Given the description of an element on the screen output the (x, y) to click on. 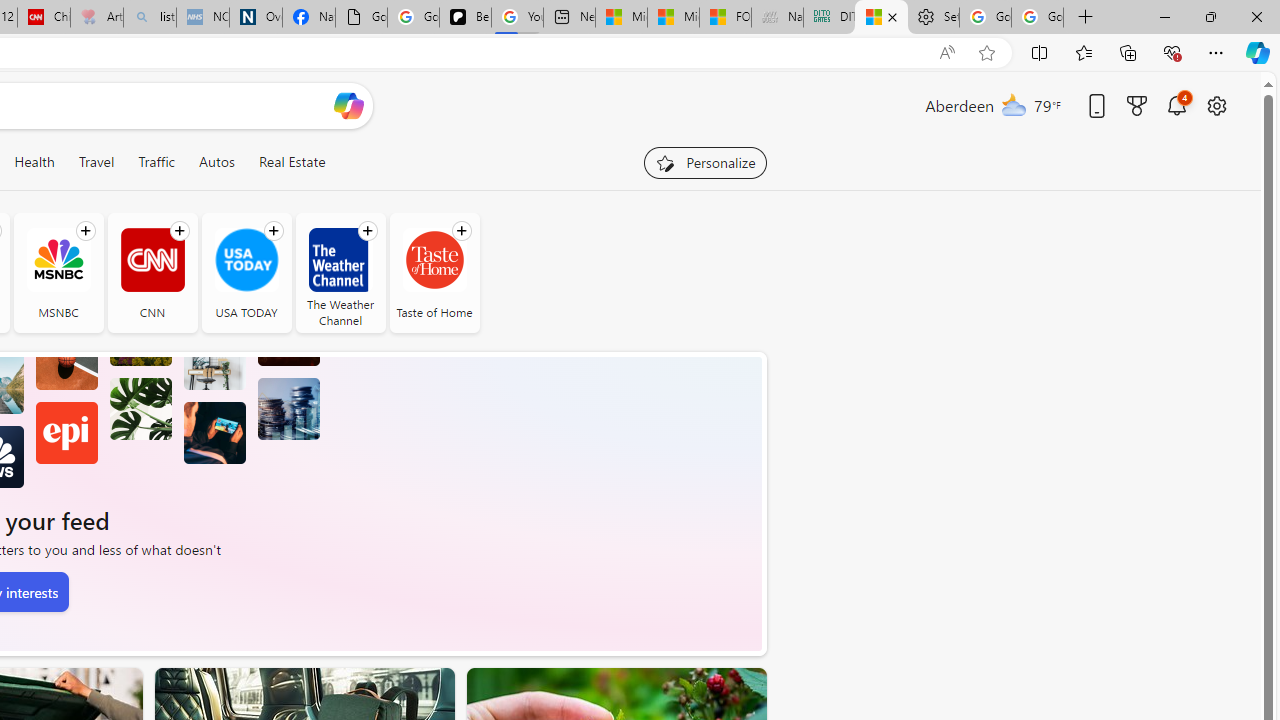
USA TODAY (246, 260)
Real Estate (291, 162)
